Given the description of an element on the screen output the (x, y) to click on. 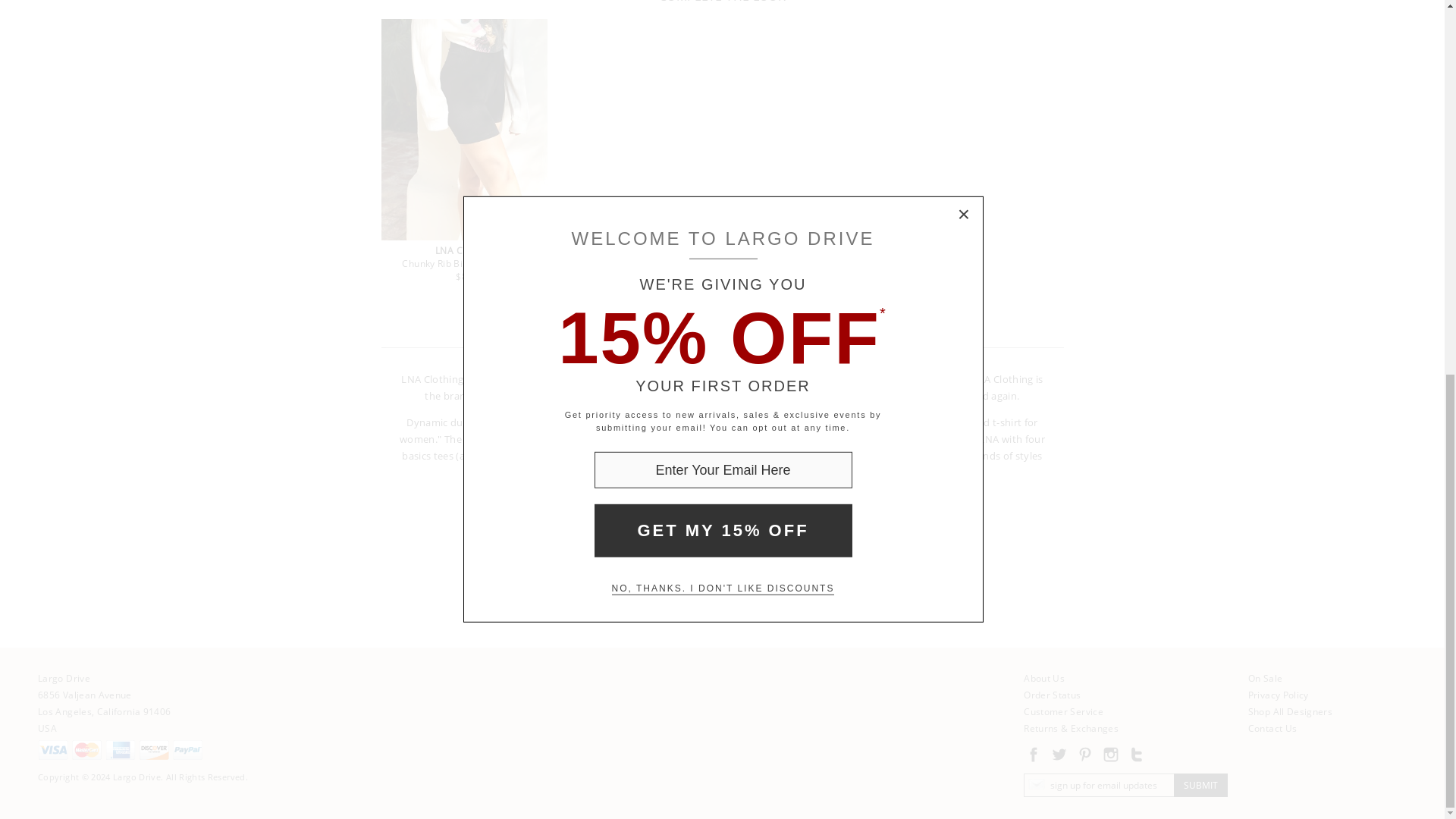
SUBMIT (1200, 784)
sign up for email updates (1098, 784)
